Given the description of an element on the screen output the (x, y) to click on. 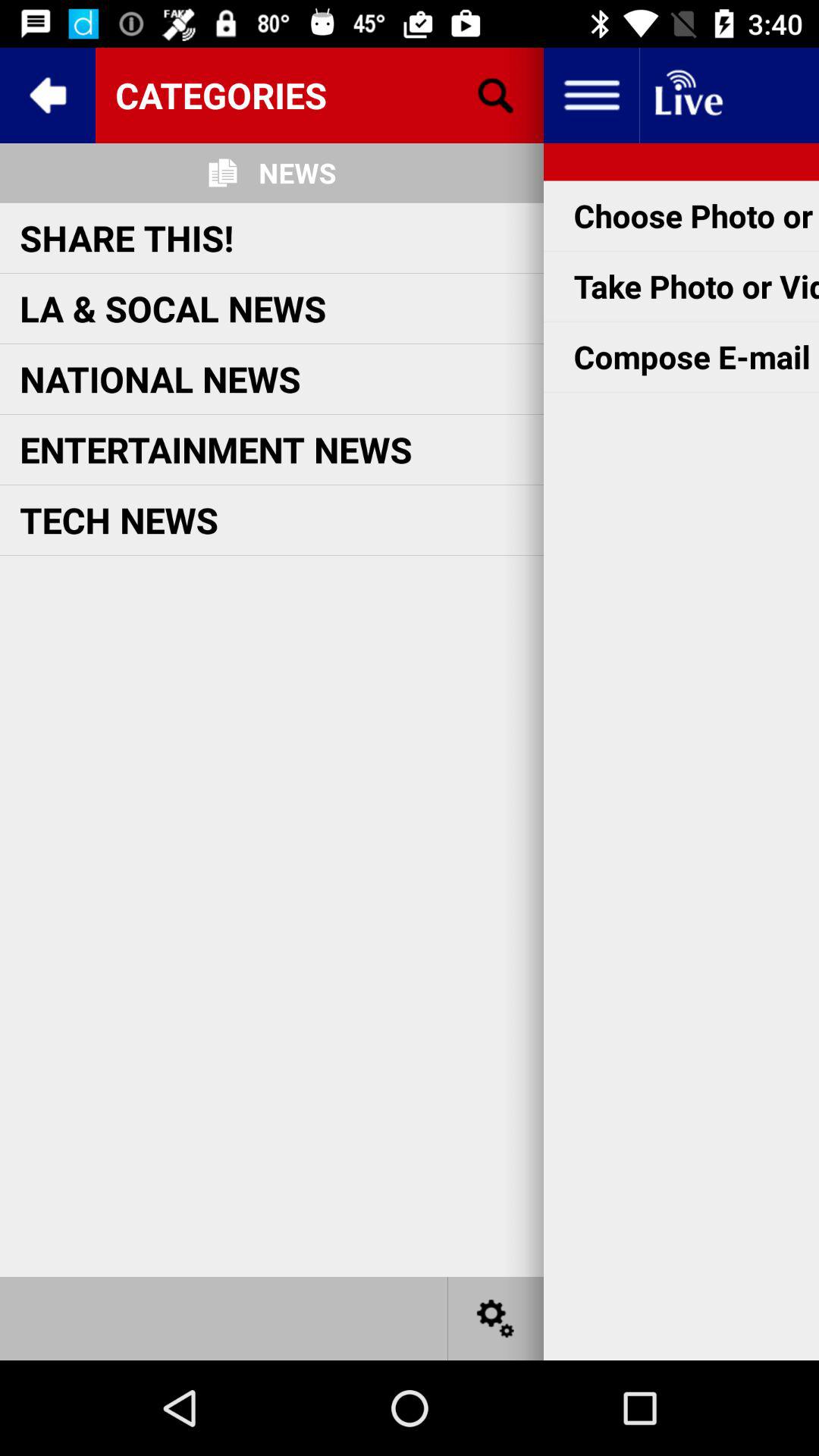
press national news (159, 378)
